Given the description of an element on the screen output the (x, y) to click on. 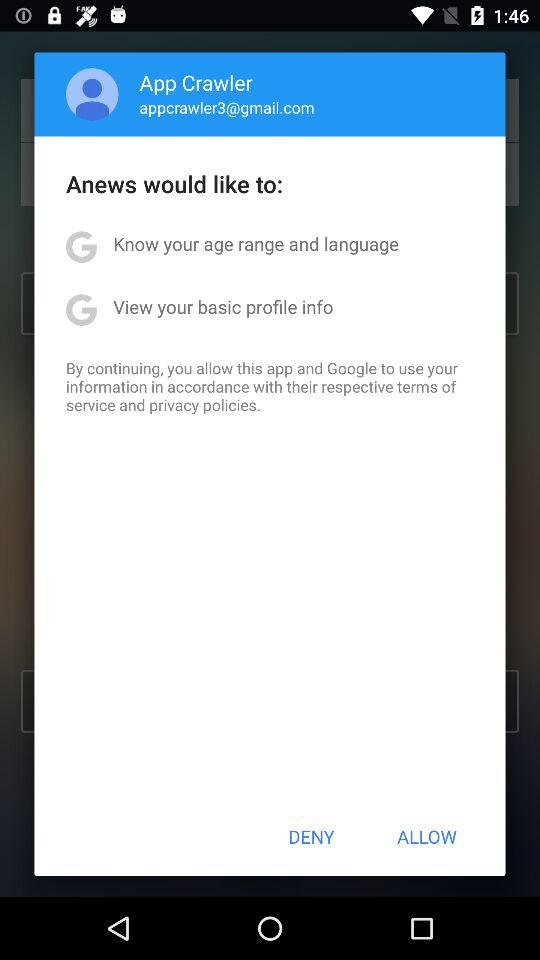
launch the icon above by continuing you icon (223, 306)
